Given the description of an element on the screen output the (x, y) to click on. 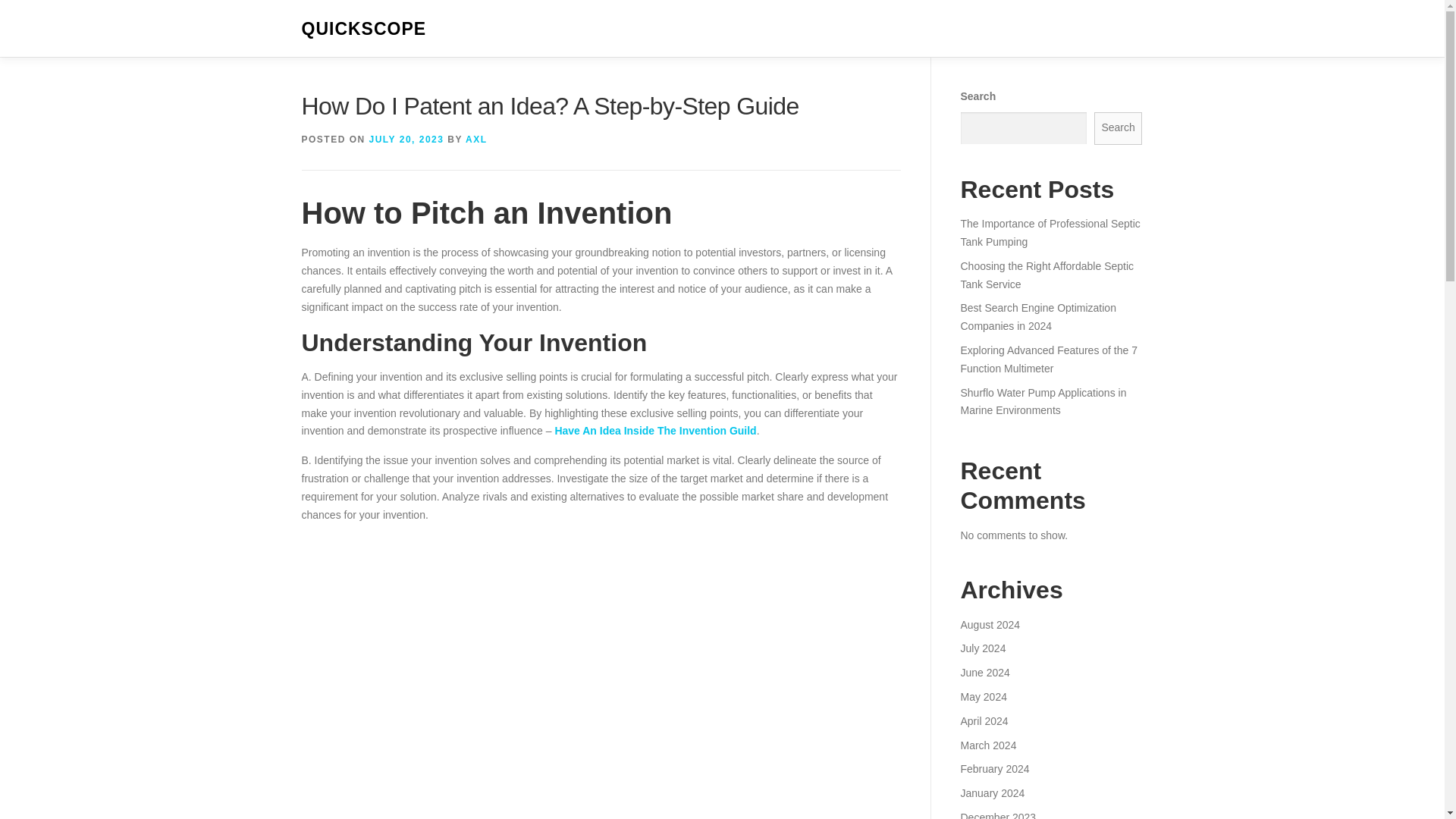
June 2024 (984, 672)
July 2024 (982, 648)
April 2024 (983, 720)
Exploring Advanced Features of the 7 Function Multimeter (1048, 358)
Search (1118, 128)
The Importance of Professional Septic Tank Pumping (1049, 232)
QUICKSCOPE (363, 29)
Have An Idea Inside The Invention Guild (654, 430)
Shurflo Water Pump Applications in Marine Environments (1042, 401)
